Given the description of an element on the screen output the (x, y) to click on. 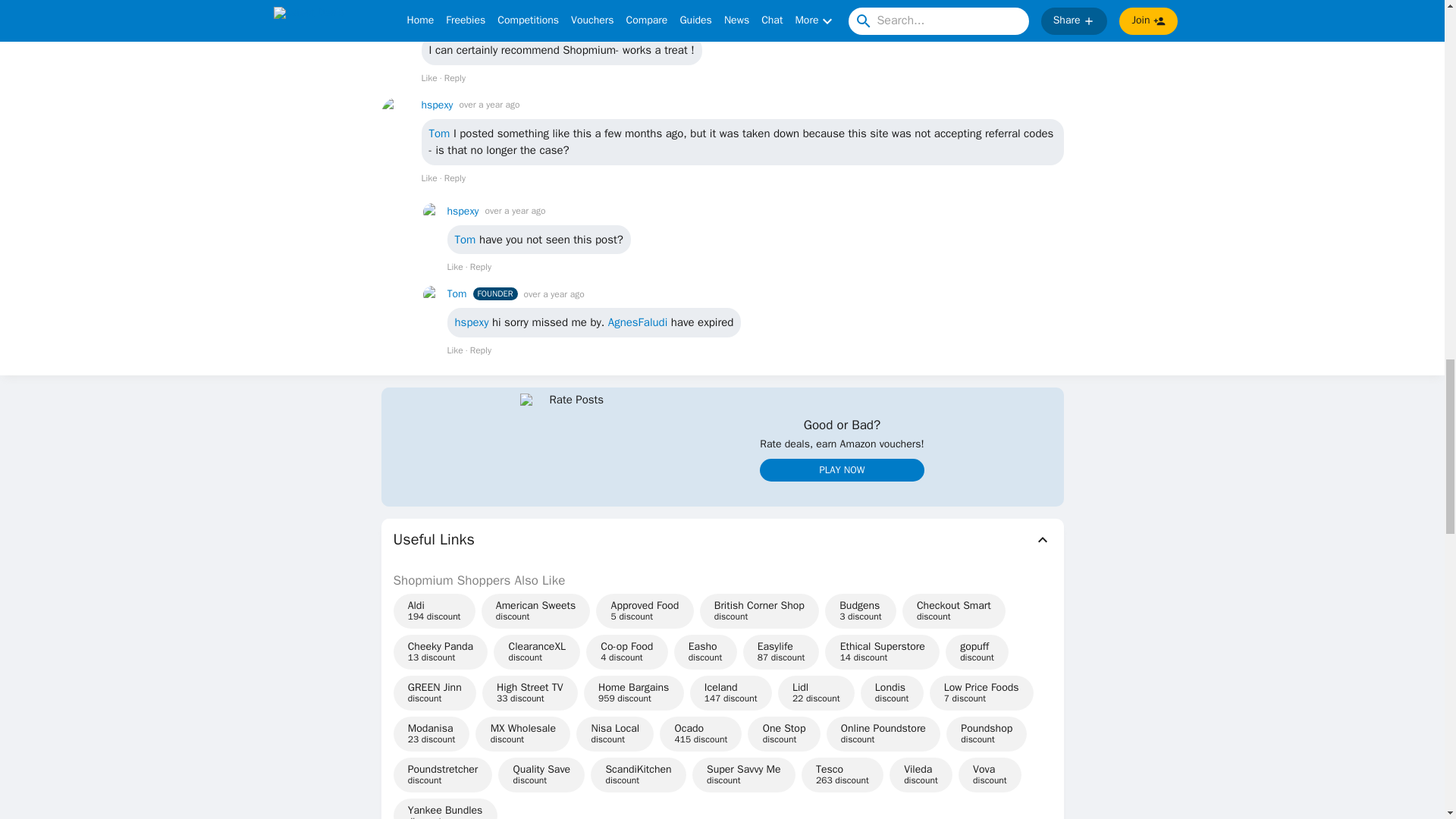
hspexy (462, 211)
Tom (456, 293)
hspexy (437, 105)
didbygraham (451, 21)
